Given the description of an element on the screen output the (x, y) to click on. 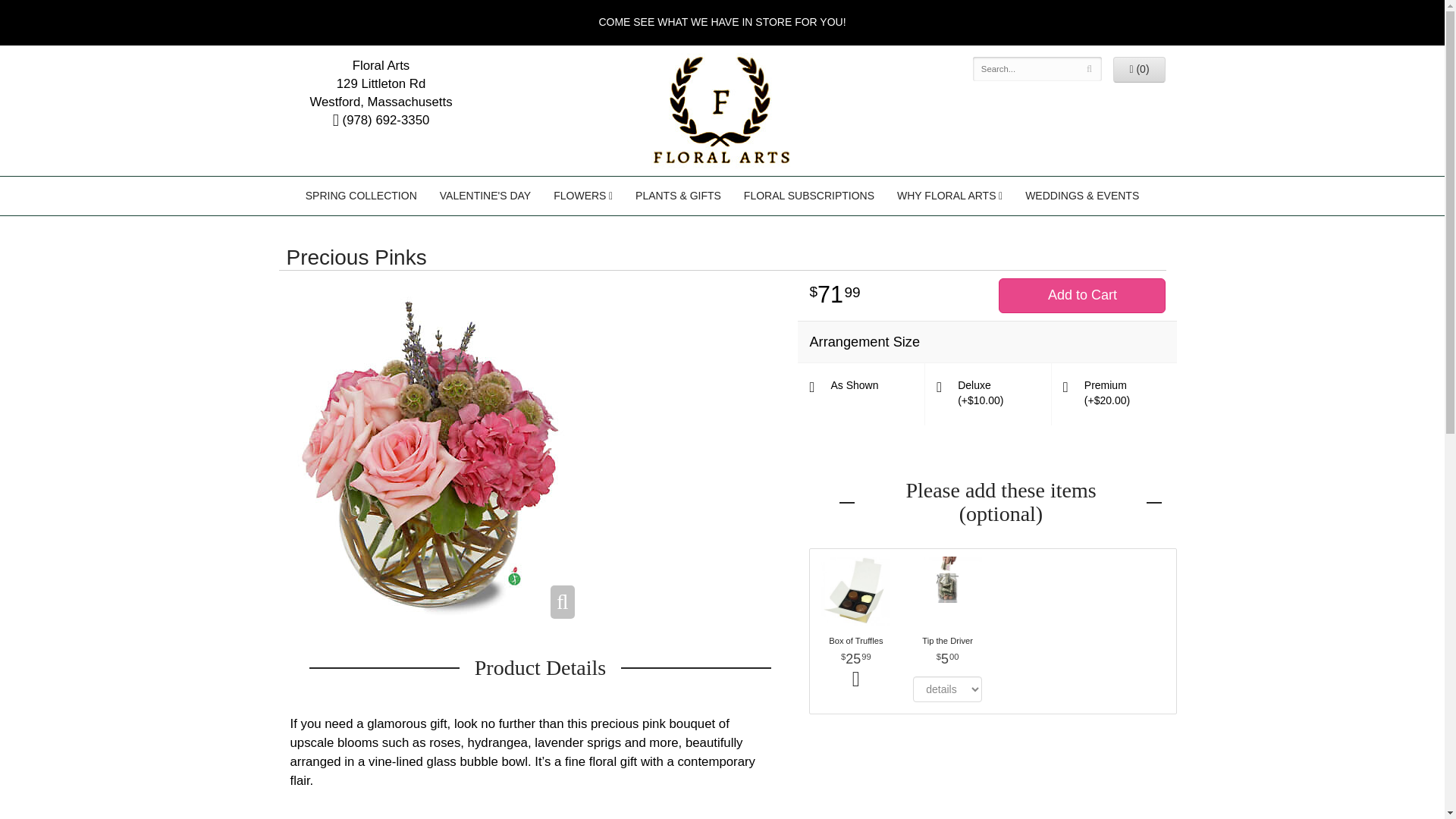
WHY FLORAL ARTS (949, 195)
FLOWERS (582, 195)
Add to Cart (1082, 295)
VALENTINE'S DAY (484, 195)
SPRING COLLECTION (361, 195)
FLORAL SUBSCRIPTIONS (808, 195)
